Given the description of an element on the screen output the (x, y) to click on. 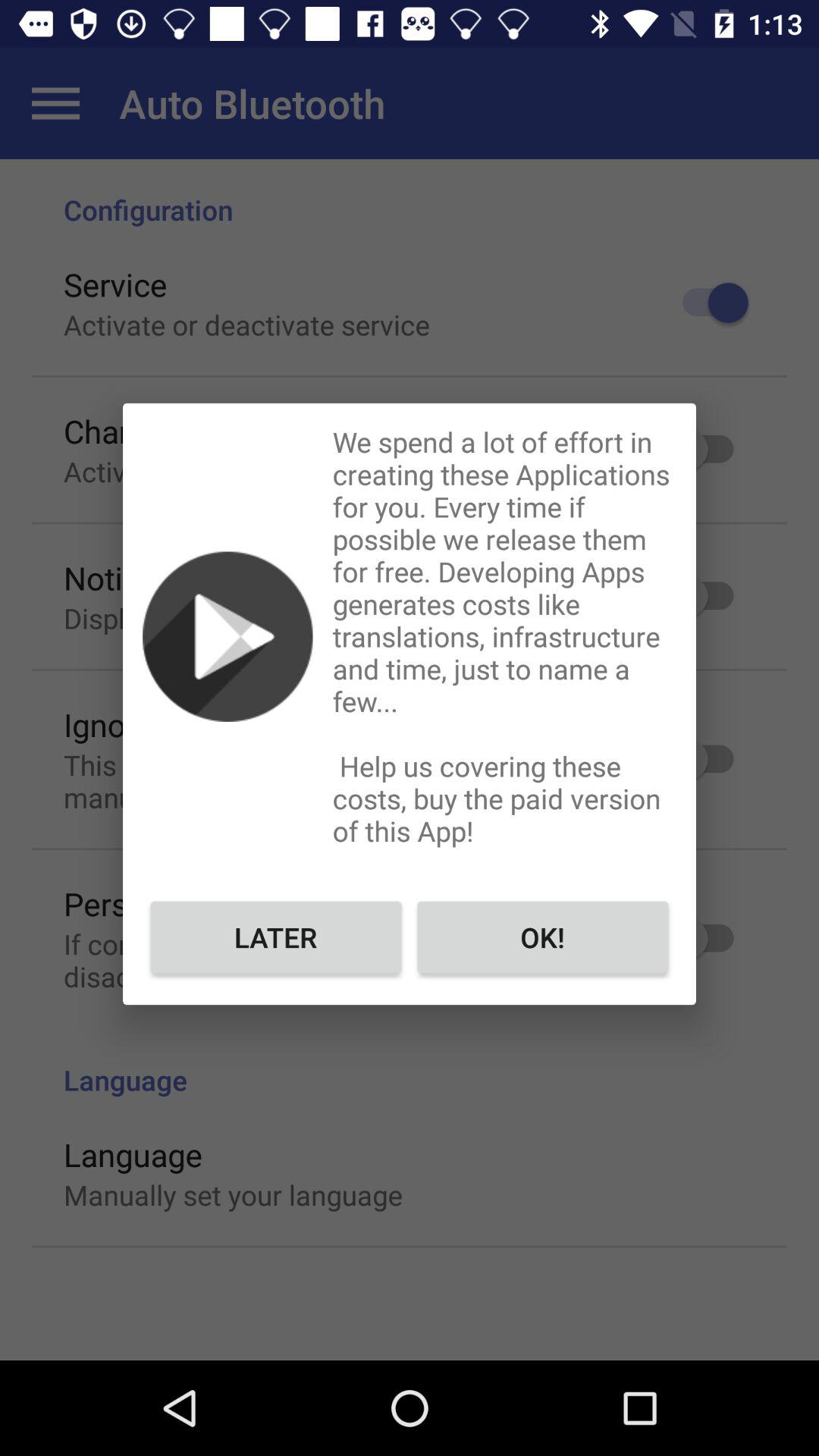
turn off the icon to the left of ok! icon (275, 937)
